Given the description of an element on the screen output the (x, y) to click on. 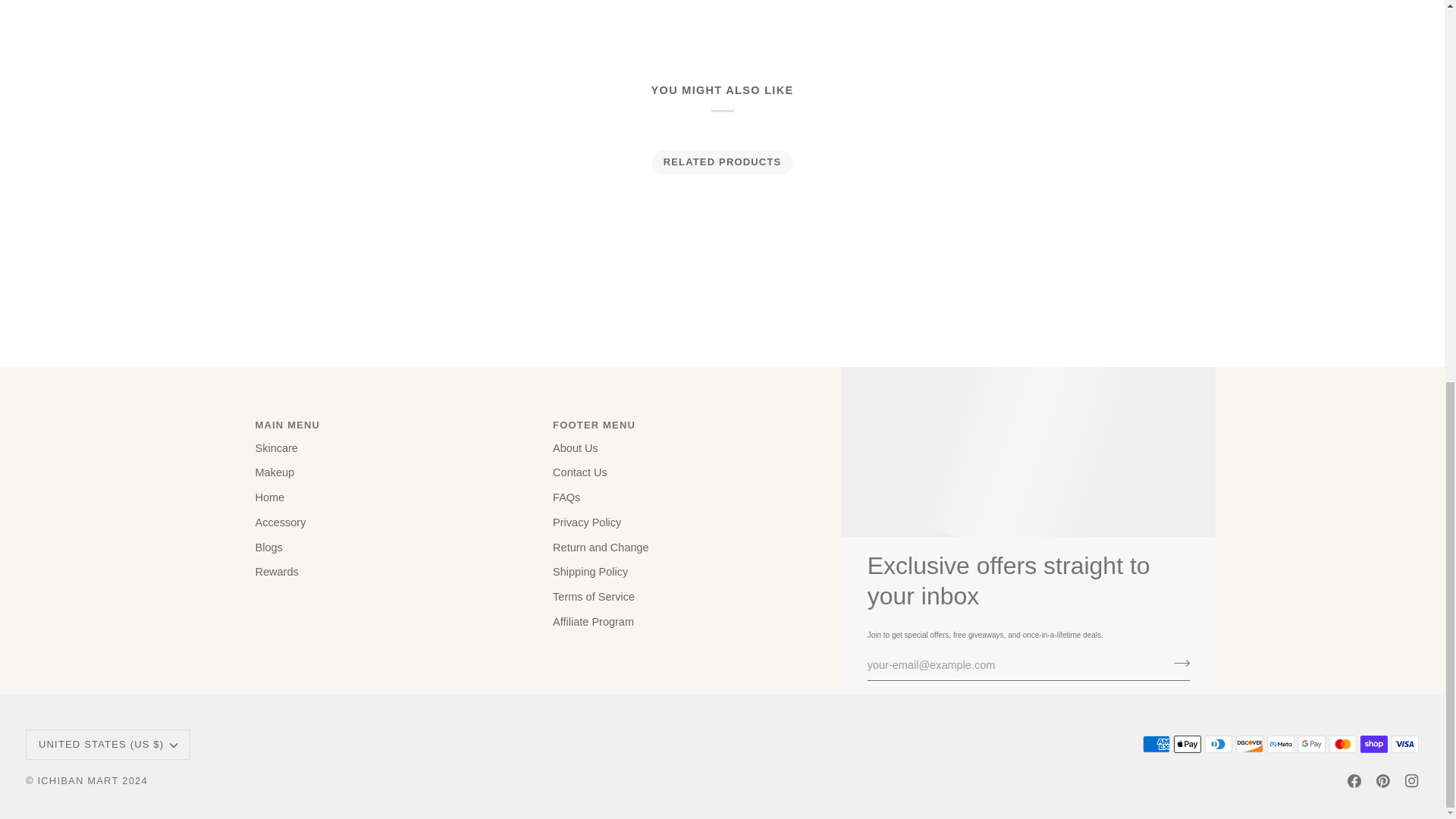
APPLE PAY (1187, 743)
VISA (1404, 743)
DISCOVER (1249, 743)
Pinterest (1382, 780)
SHOP PAY (1373, 743)
Facebook (1354, 780)
Instagram (1411, 780)
MASTERCARD (1342, 743)
GOOGLE PAY (1311, 743)
META PAY (1280, 743)
AMERICAN EXPRESS (1156, 743)
RELATED PRODUCTS (721, 161)
DINERS CLUB (1218, 743)
